Given the description of an element on the screen output the (x, y) to click on. 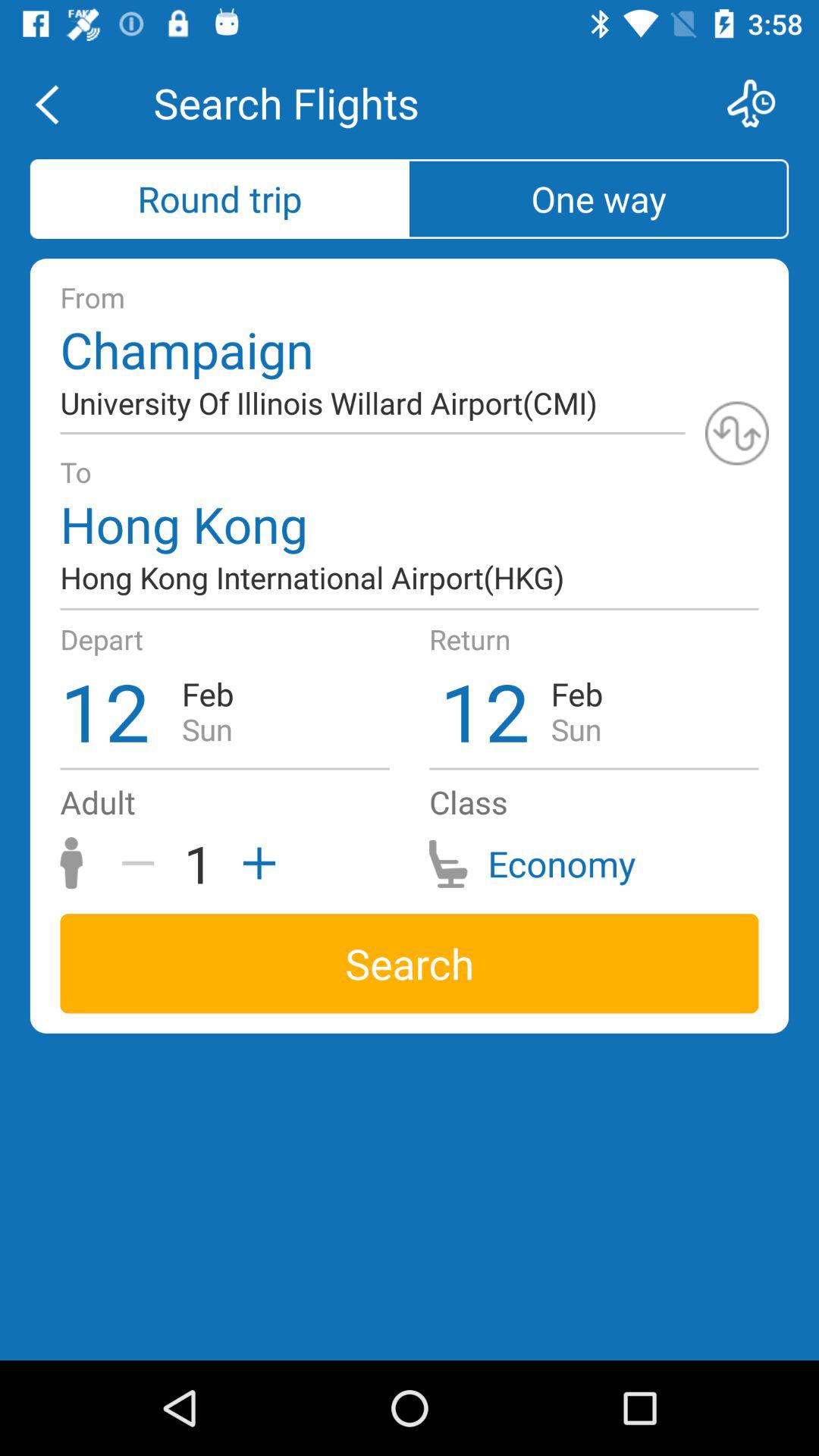
subtract one adult (143, 863)
